Given the description of an element on the screen output the (x, y) to click on. 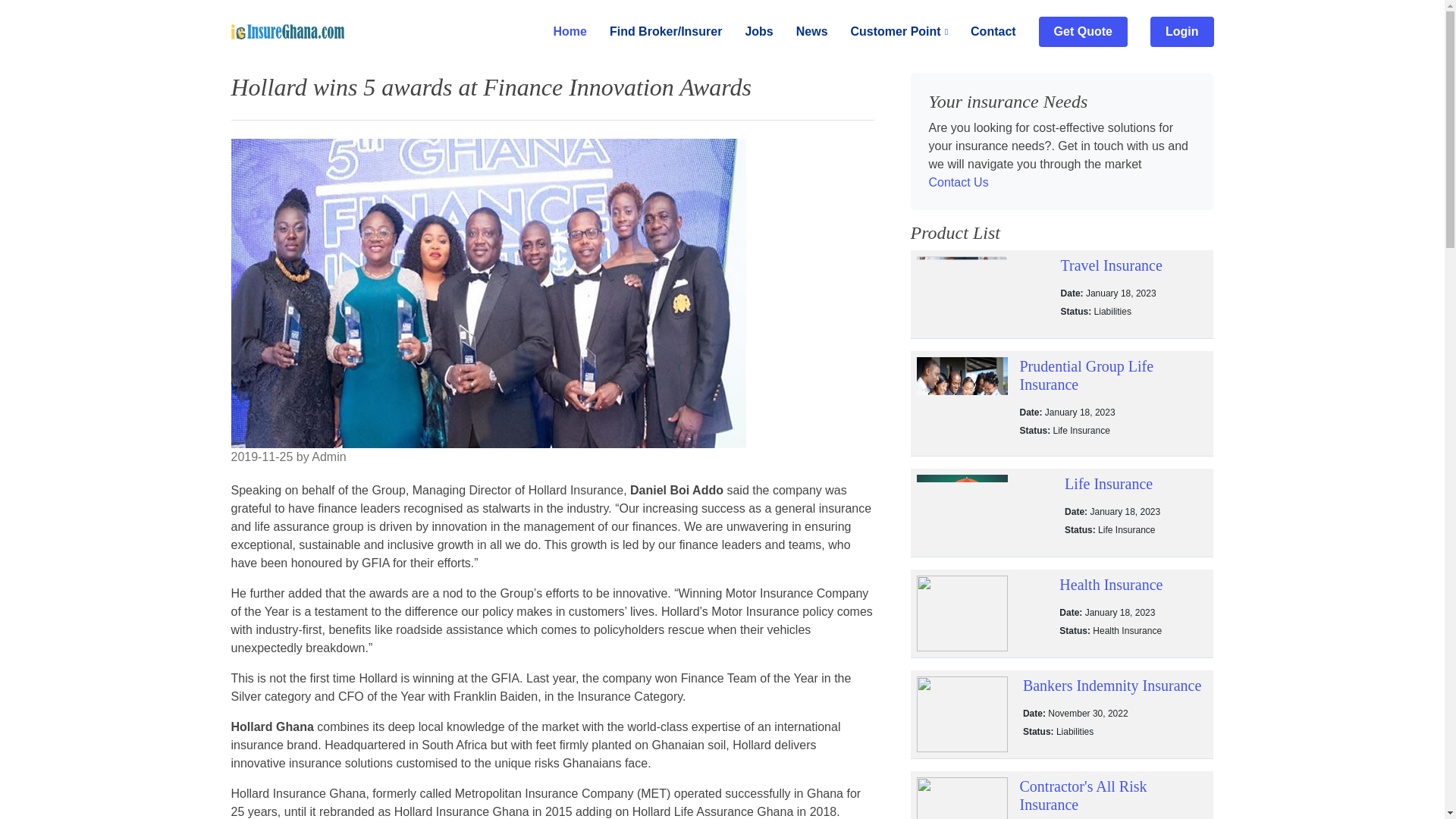
Home (557, 31)
Jobs (747, 31)
Customer Point (888, 31)
Travel Insurance (1134, 274)
Contact Us (958, 182)
Health Insurance (1133, 593)
Life Insurance (1135, 493)
Home (557, 31)
Contractor's All Risk Insurance (1113, 798)
Login (1182, 31)
